Given the description of an element on the screen output the (x, y) to click on. 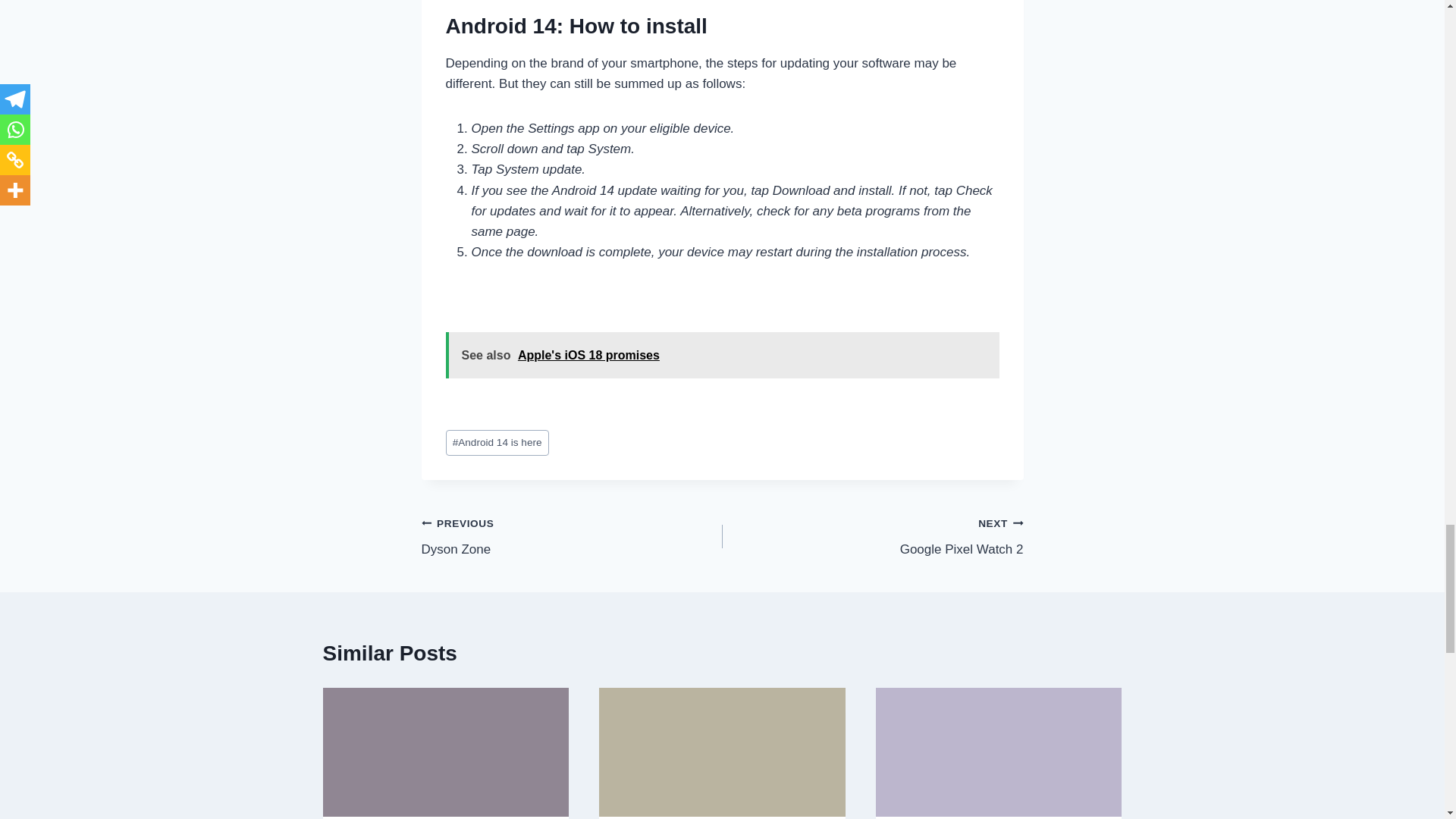
Android 14 is here (496, 442)
See also  Apple's iOS 18 promises (572, 536)
